Given the description of an element on the screen output the (x, y) to click on. 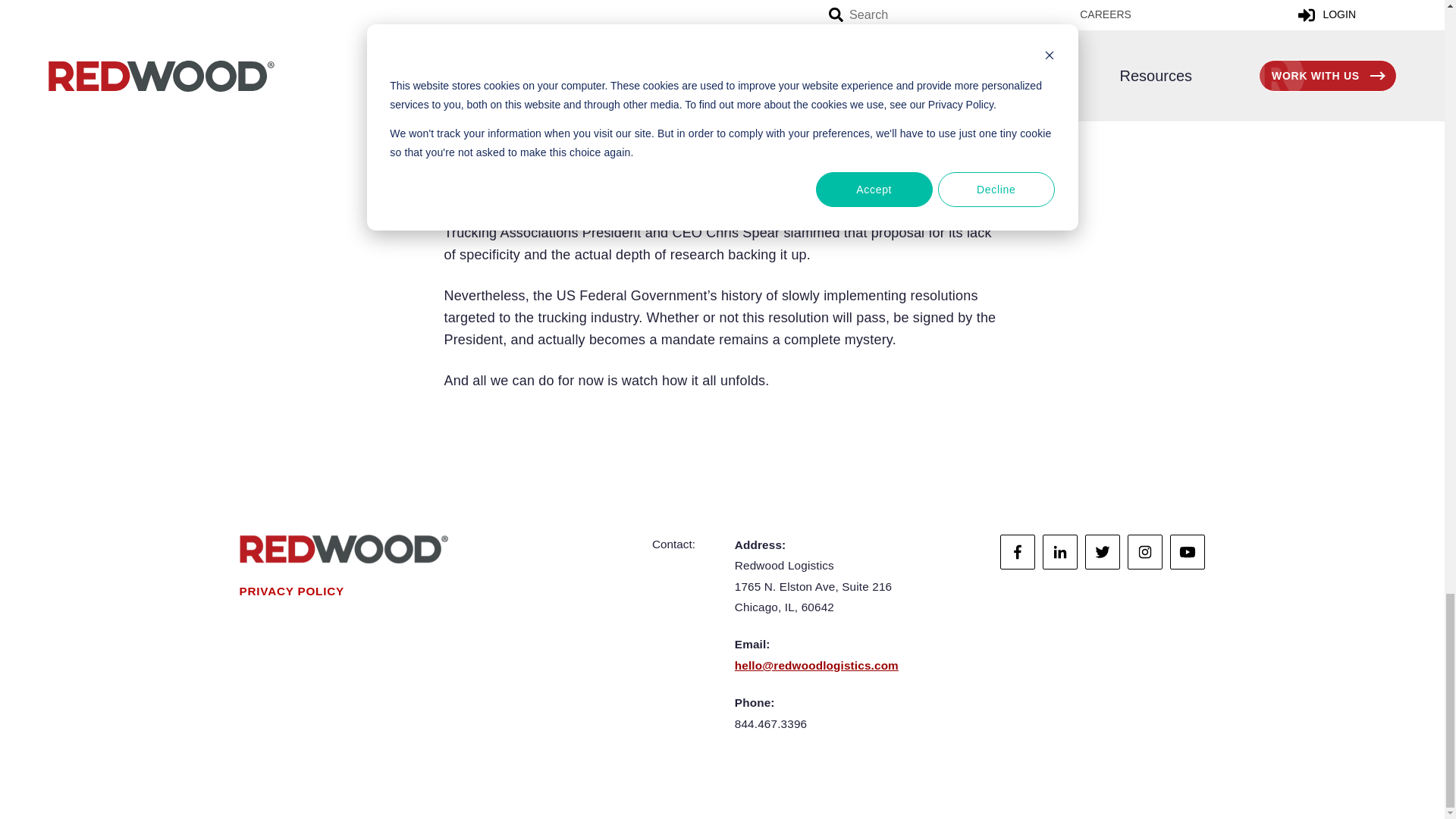
redwood-wordmark-full-color (344, 548)
Facebook (1017, 551)
YouTube (1187, 551)
Linkedin (1059, 551)
Twitter (1101, 551)
Instagram (1143, 551)
